Given the description of an element on the screen output the (x, y) to click on. 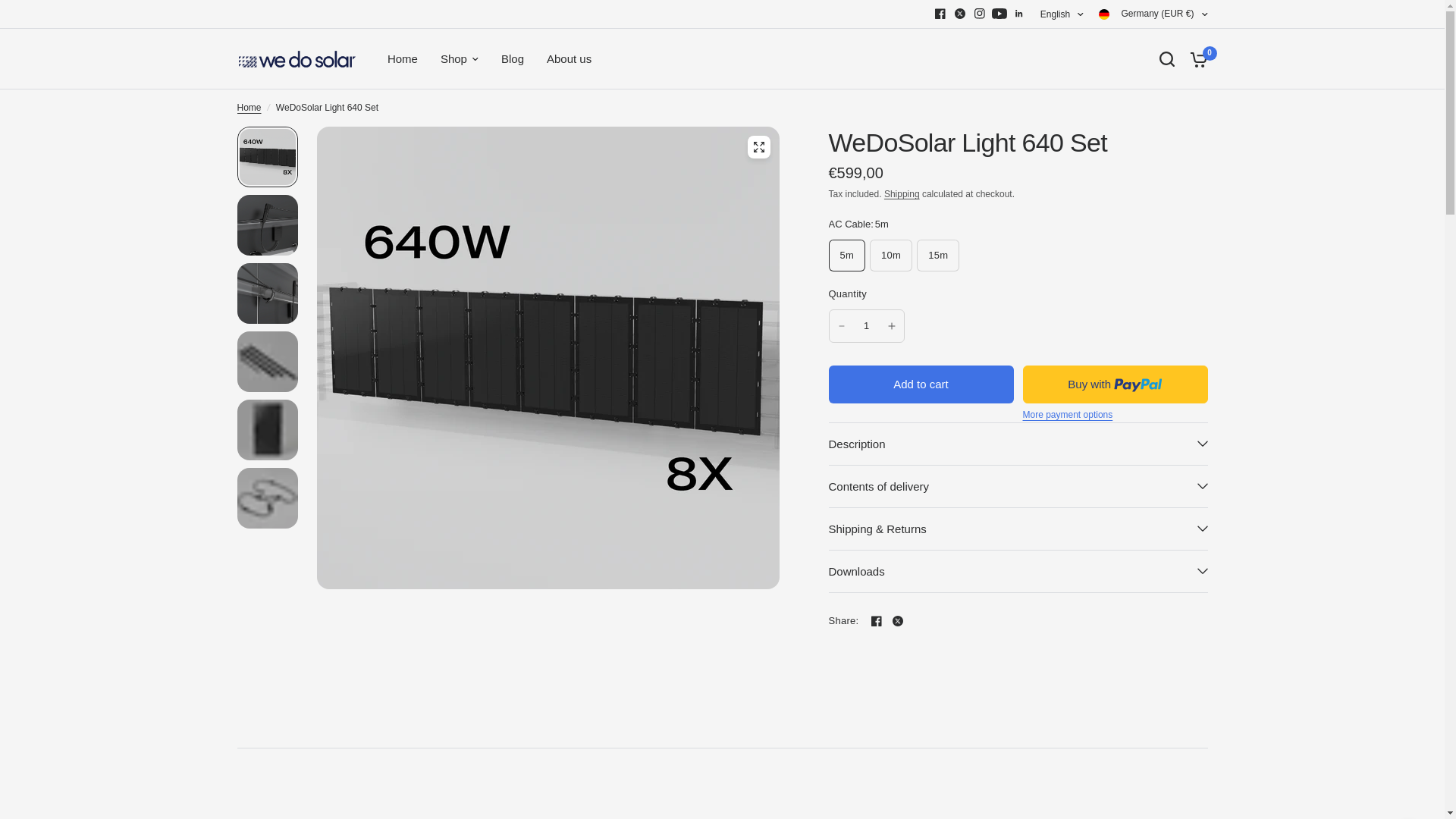
YouTube (999, 13)
Instagram (979, 13)
Linkedin (1019, 13)
Facebook (940, 13)
Shop (460, 58)
Home (402, 58)
English (1062, 13)
X (959, 13)
